Given the description of an element on the screen output the (x, y) to click on. 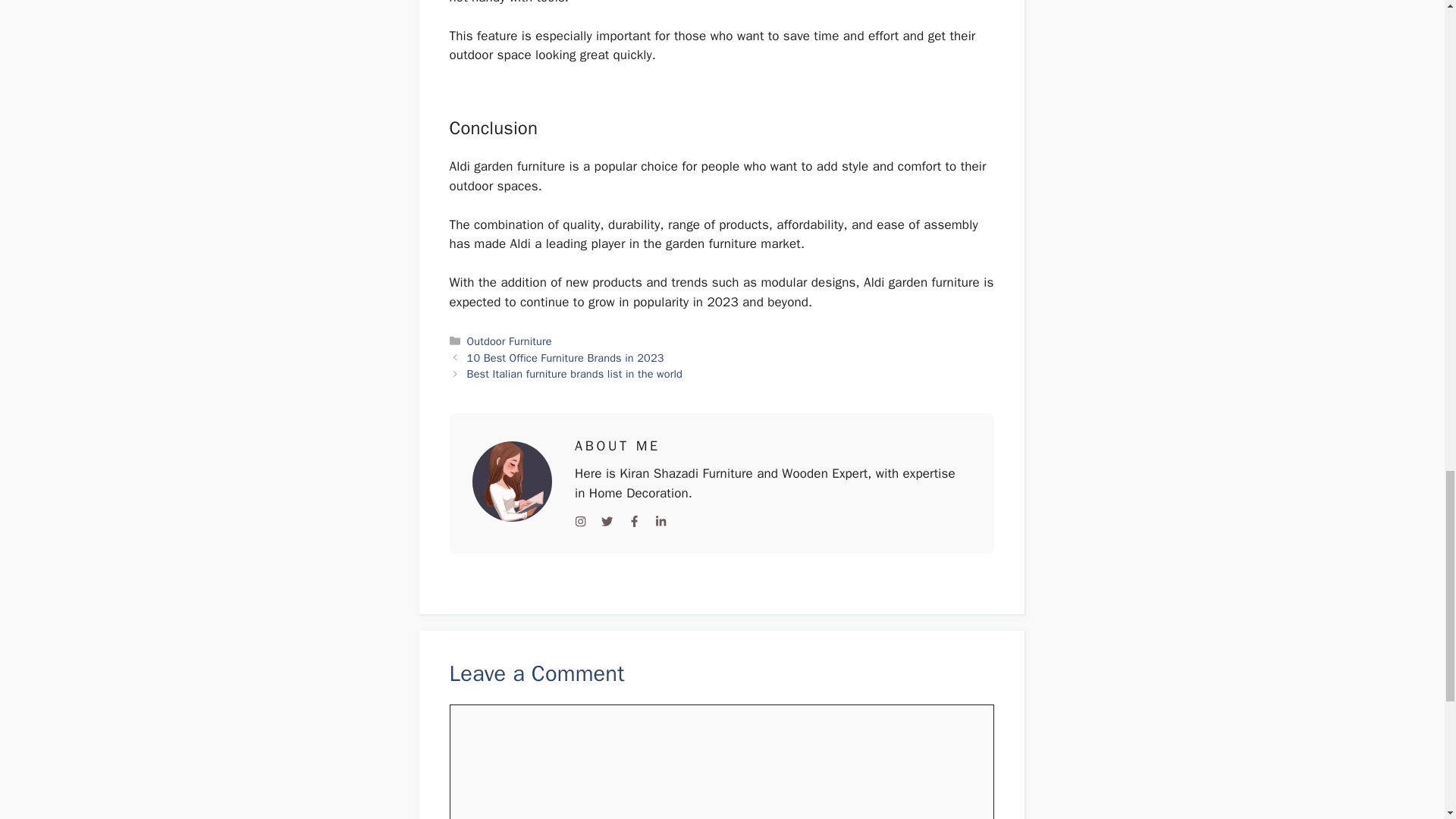
10 Best Office Furniture Brands in 2023 (565, 357)
Outdoor Furniture (509, 341)
Best Italian furniture brands list in the world (574, 373)
